Given the description of an element on the screen output the (x, y) to click on. 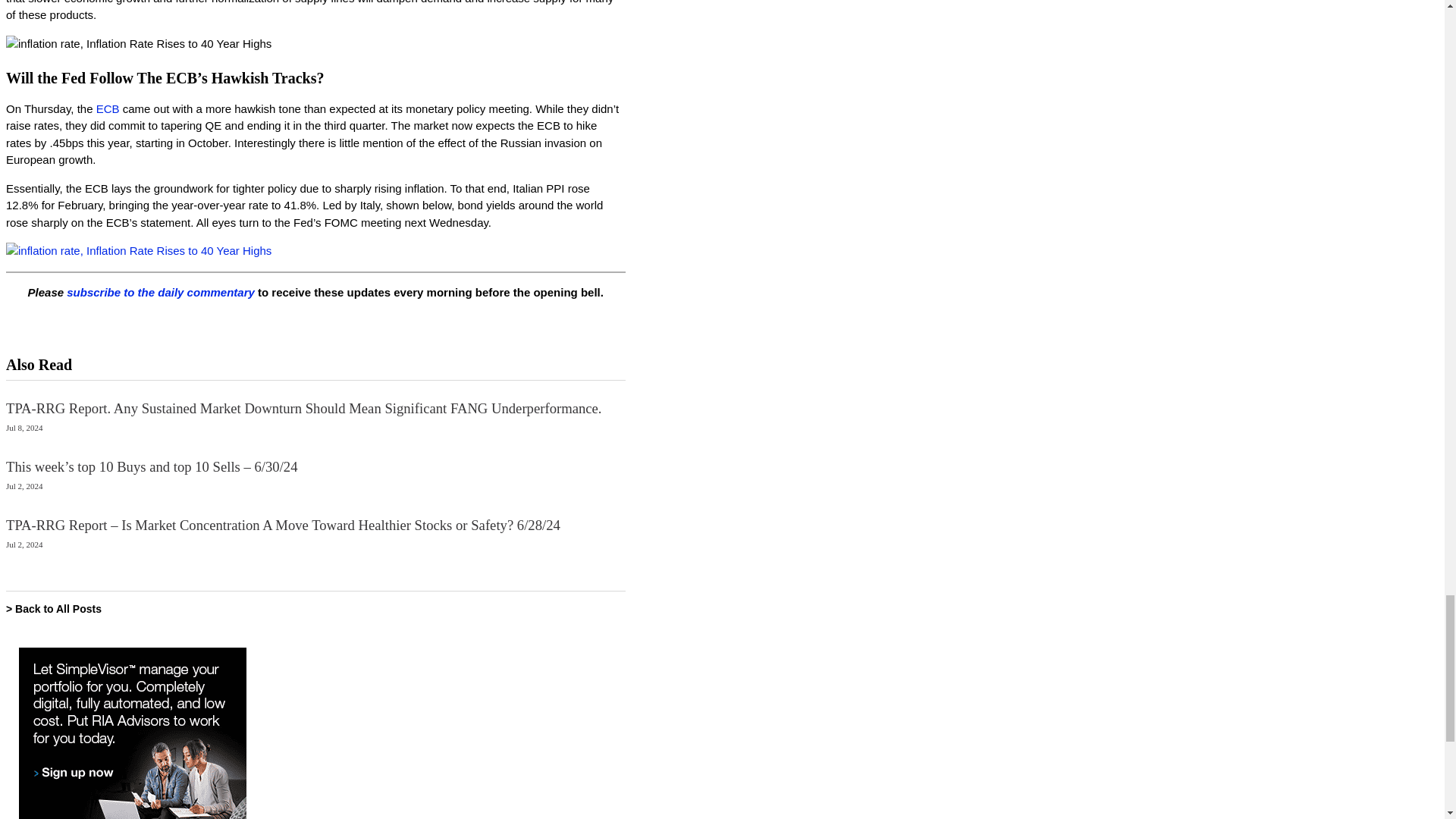
ECB (107, 108)
subscribe to the daily commentary (160, 293)
